Given the description of an element on the screen output the (x, y) to click on. 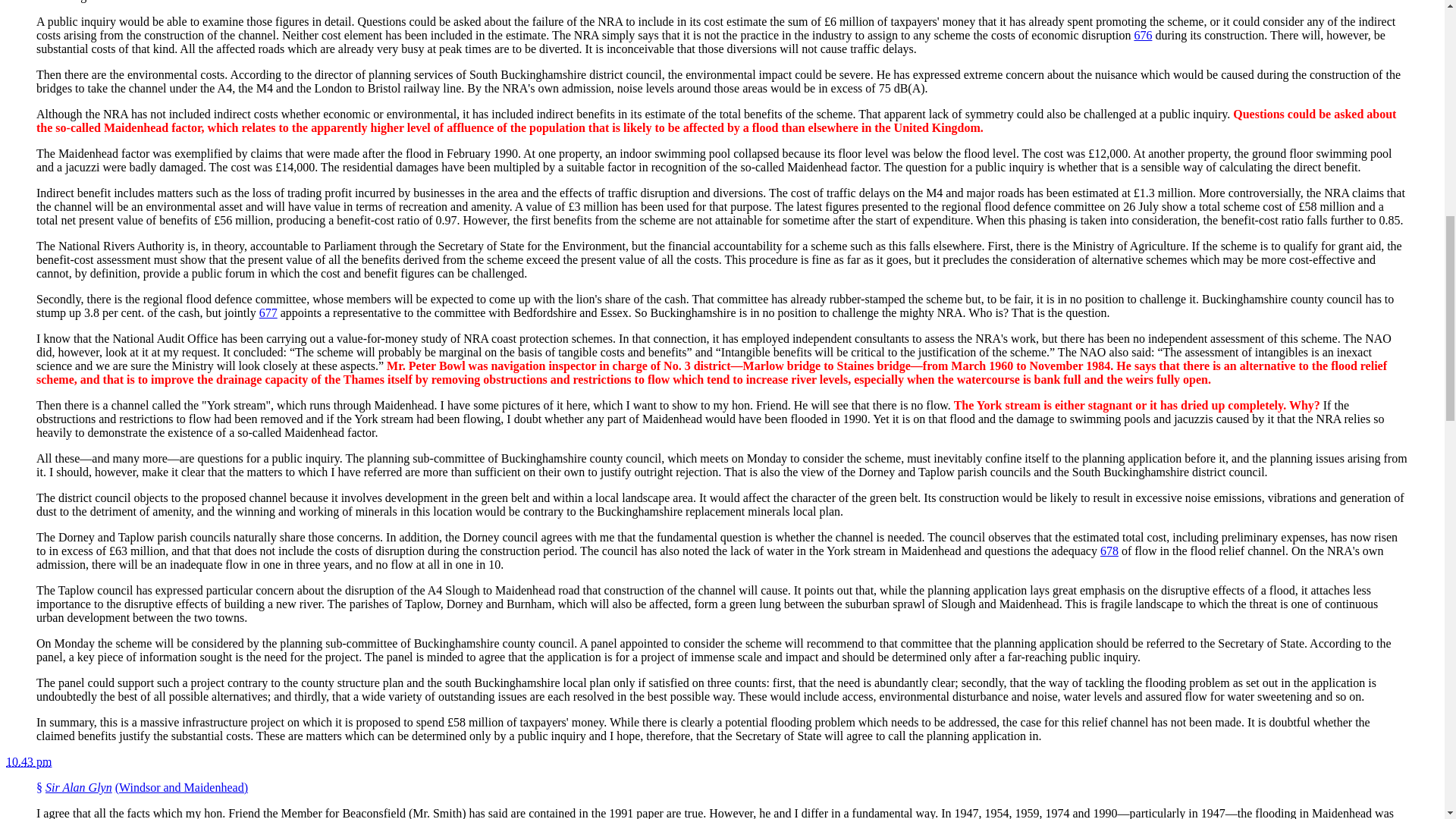
Windsor and Maidenhead (181, 787)
Dr Alan Glyn (78, 787)
678 (1109, 550)
Mr. Peter Bowl (426, 365)
Sir Alan Glyn (78, 787)
Maidenhead factor (152, 127)
1991-11-07T22:43:00Z (27, 761)
The York stream (997, 404)
677 (268, 312)
676 (1142, 34)
